Given the description of an element on the screen output the (x, y) to click on. 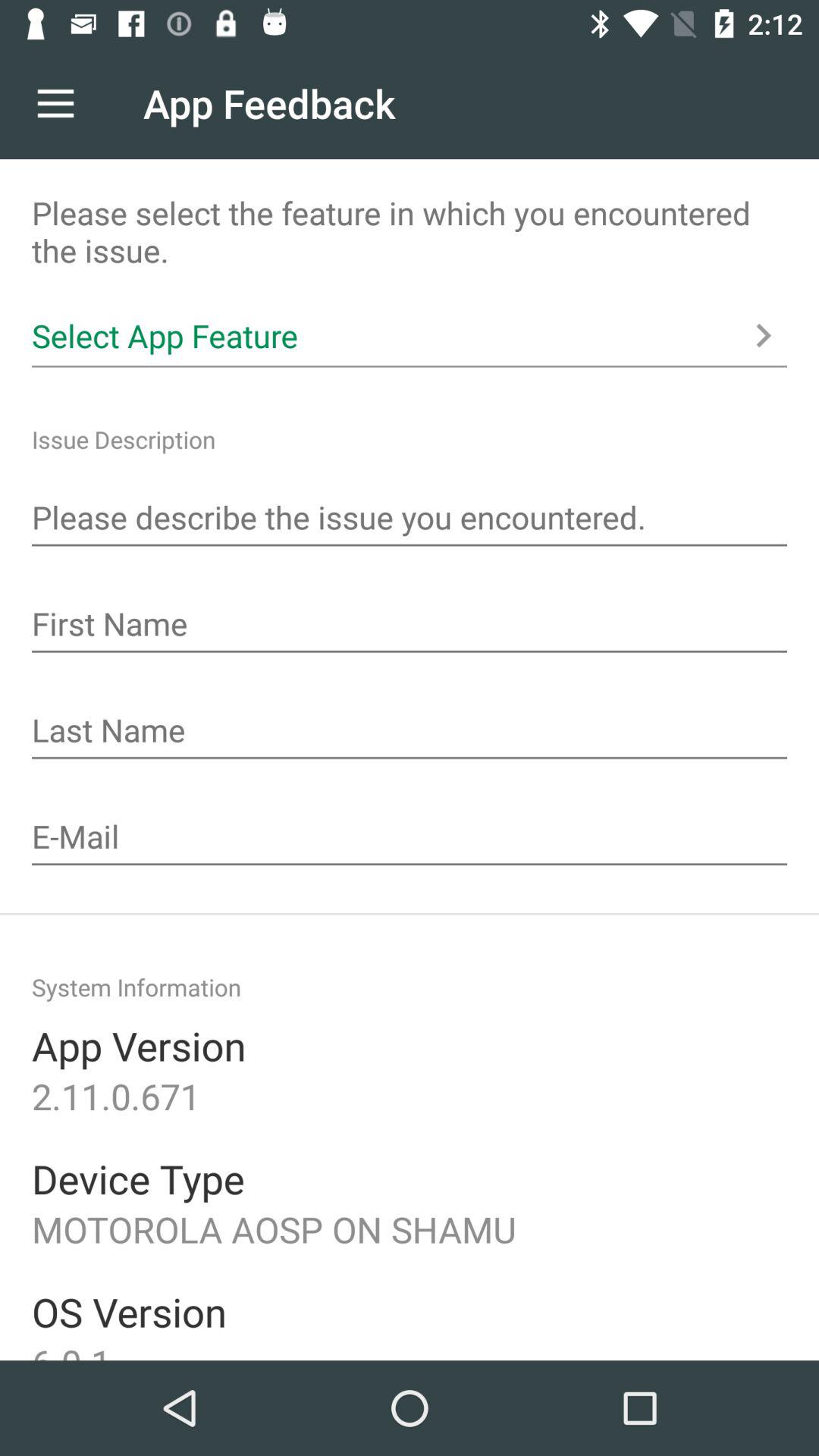
turn off item above please select the icon (55, 103)
